Given the description of an element on the screen output the (x, y) to click on. 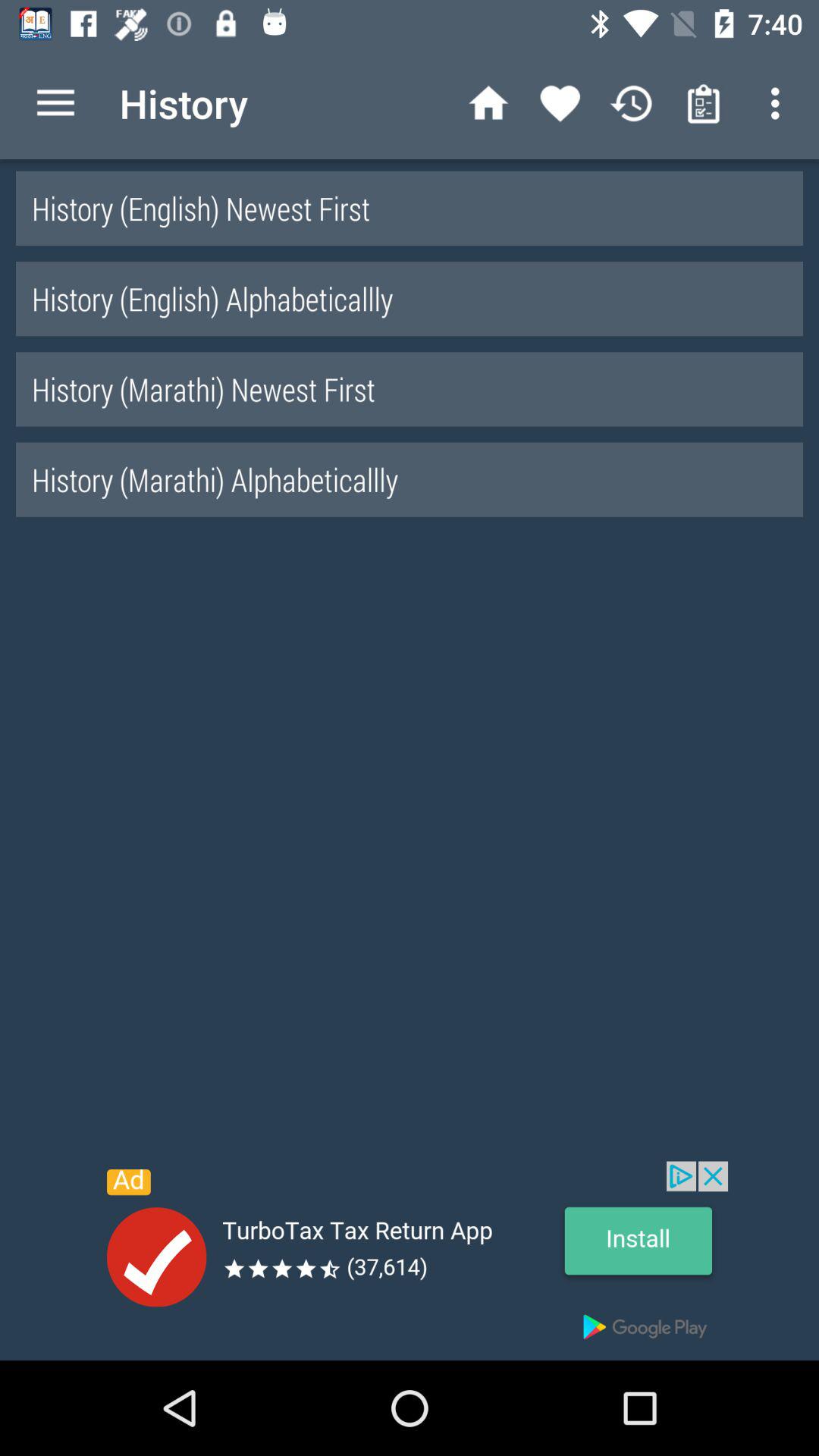
turbotax add (409, 1260)
